Given the description of an element on the screen output the (x, y) to click on. 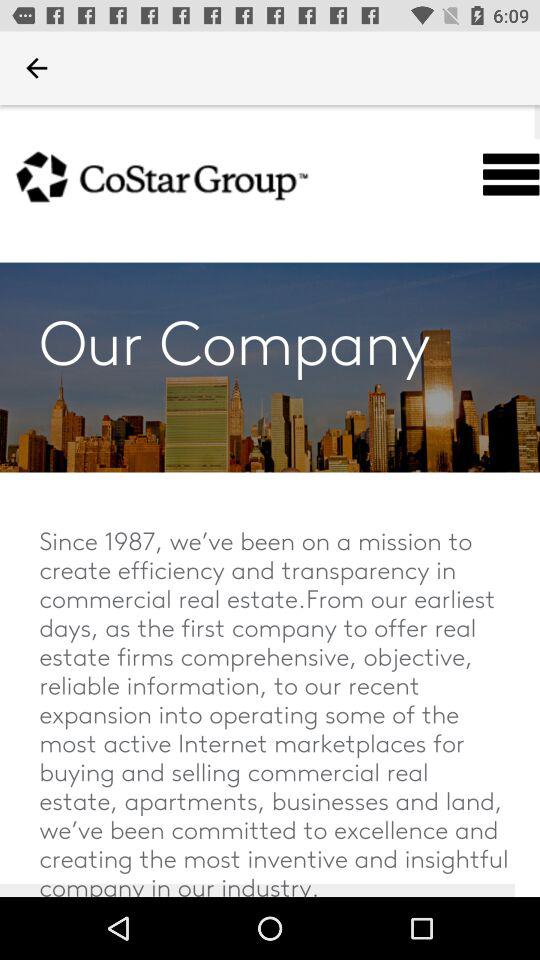
company info (270, 501)
